Given the description of an element on the screen output the (x, y) to click on. 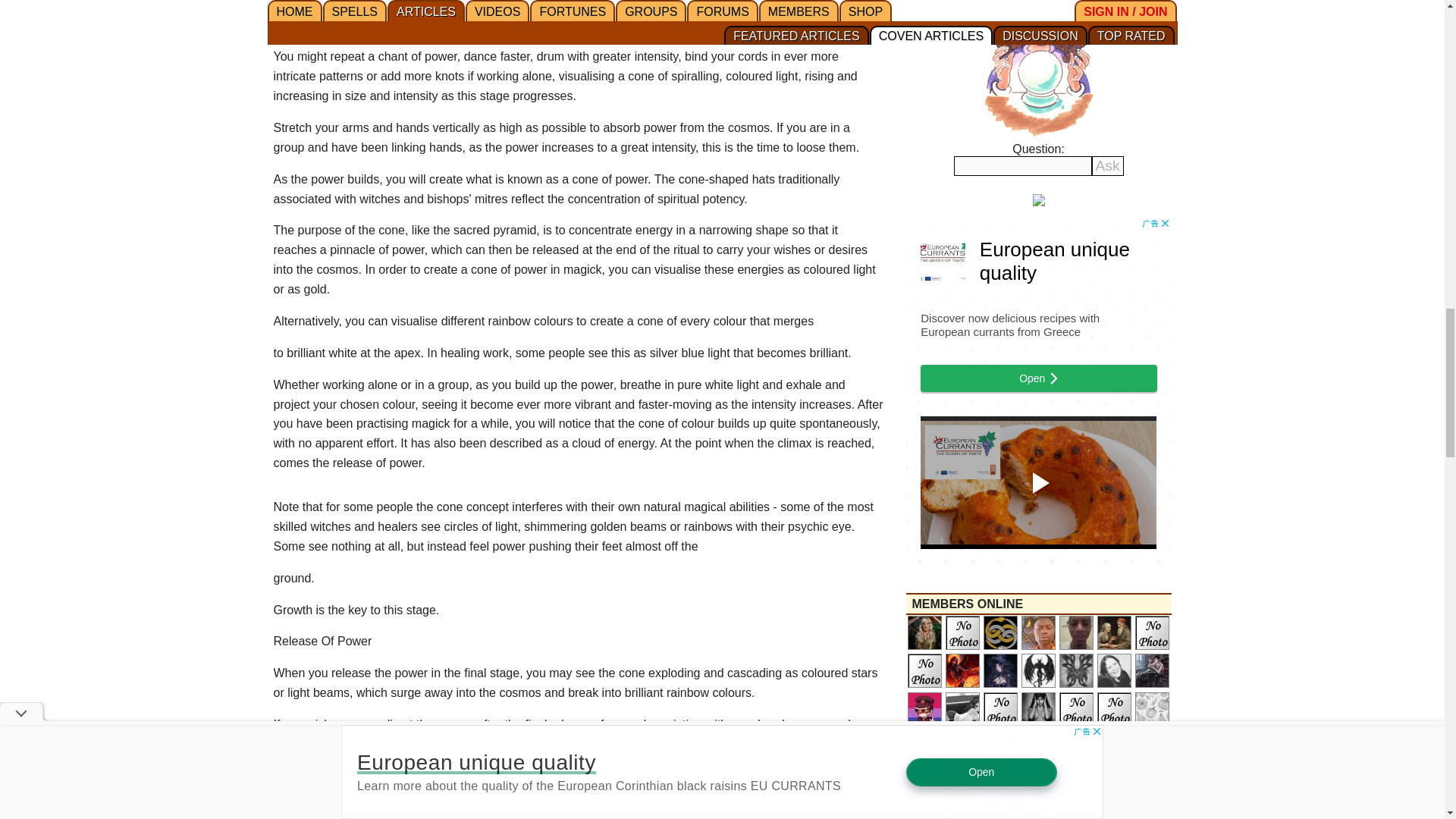
Ask (1108, 166)
Advertisement (577, 17)
